Given the description of an element on the screen output the (x, y) to click on. 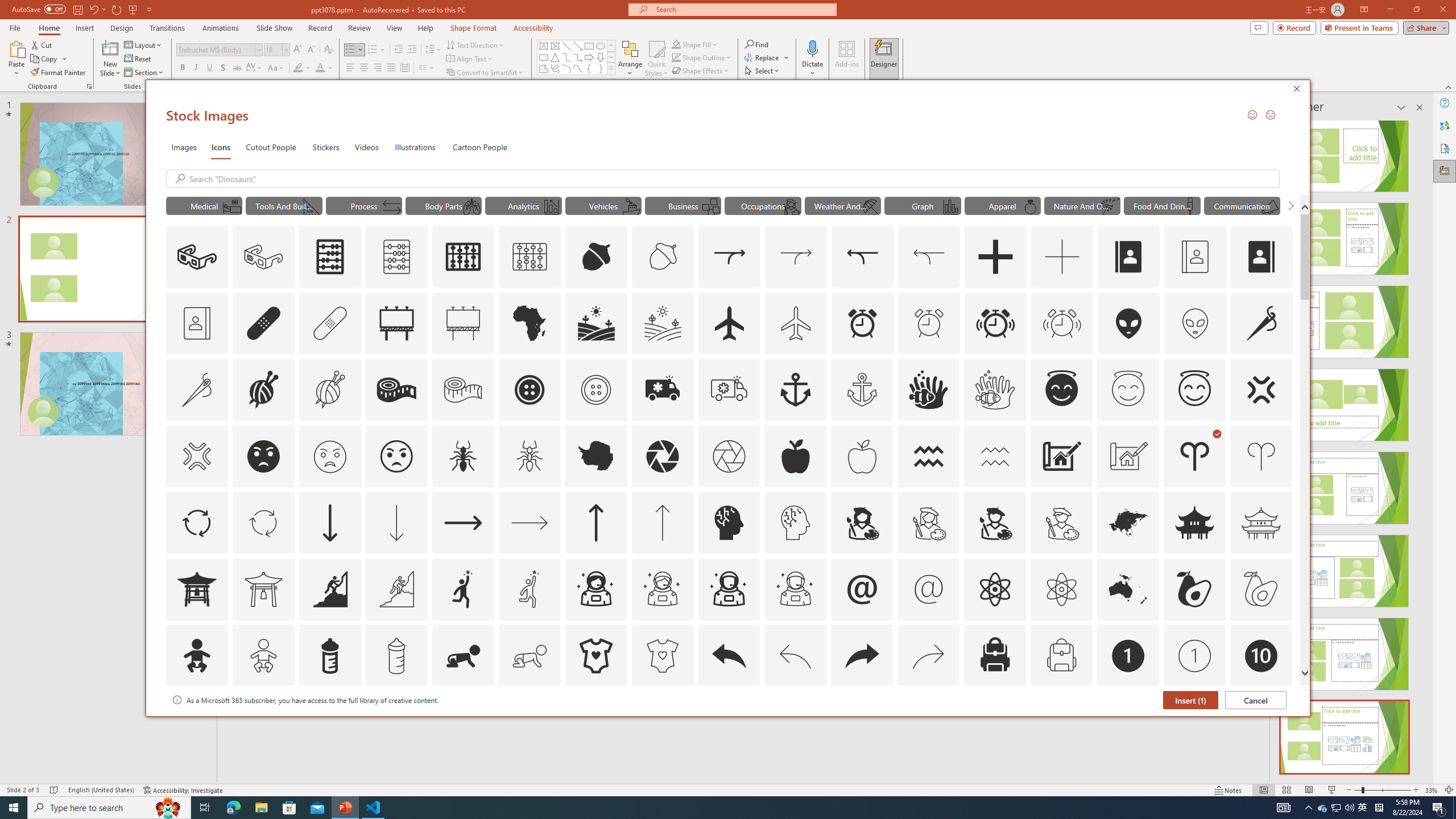
AutomationID: Icons_AngerSymbol (1260, 389)
AutomationID: Icons_Acquisition_LTR (729, 256)
AutomationID: Icons_Apple (795, 455)
AutomationID: Icons_Baby (196, 655)
"Food And Drinks" Icons. (1162, 205)
